Given the description of an element on the screen output the (x, y) to click on. 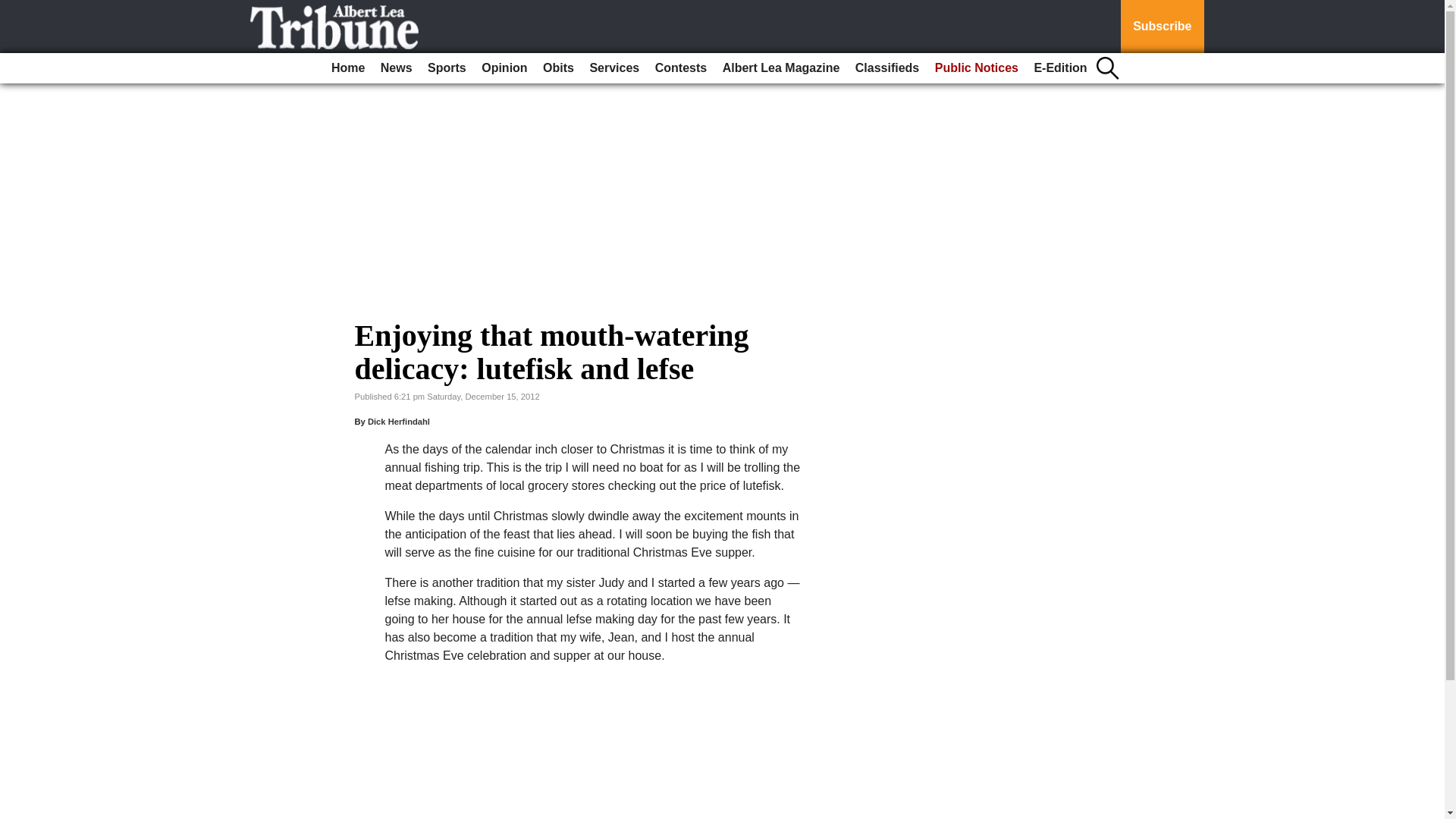
Subscribe (1162, 26)
Home (347, 68)
Sports (446, 68)
Obits (558, 68)
News (396, 68)
Opinion (504, 68)
Services (614, 68)
